Given the description of an element on the screen output the (x, y) to click on. 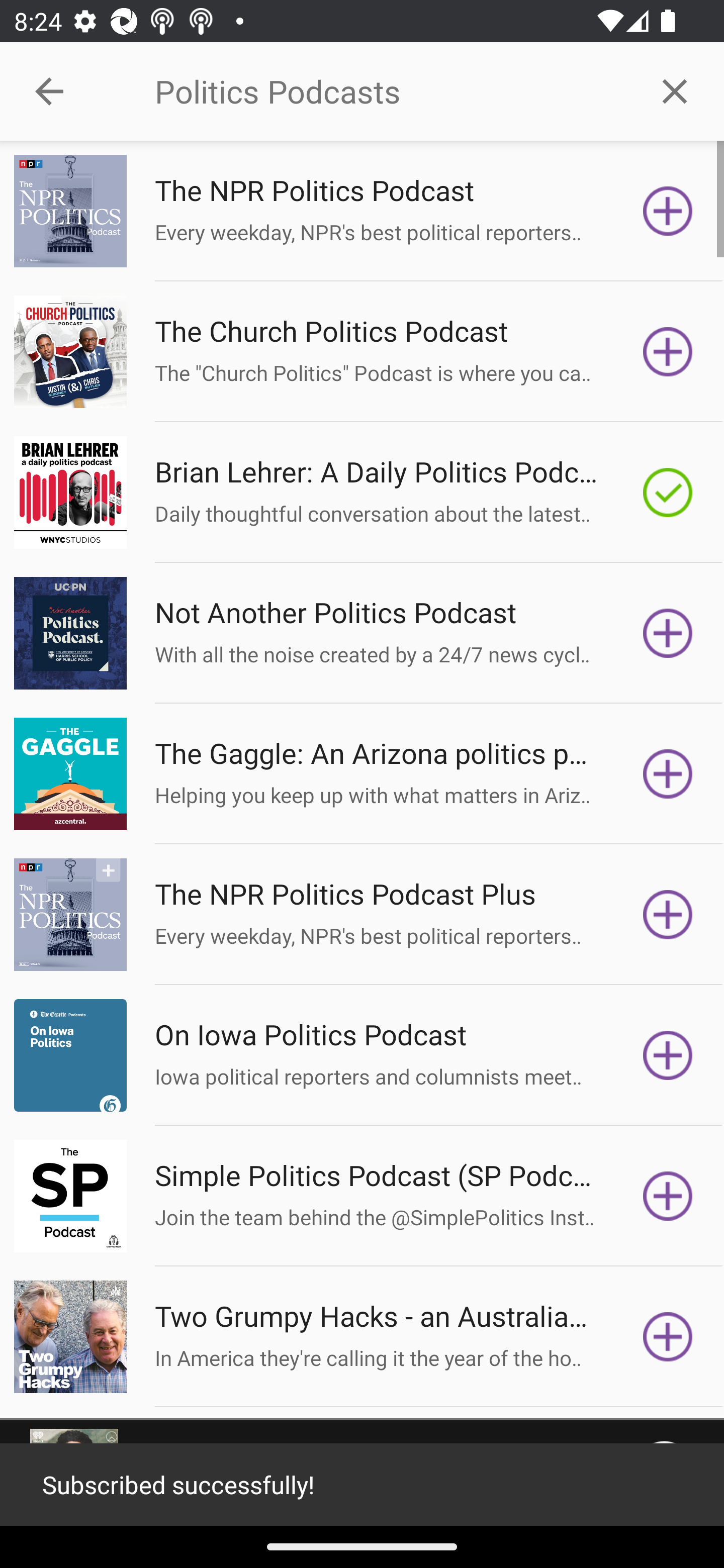
Collapse (49, 91)
Clear query (674, 90)
Politics Podcasts (389, 91)
Subscribe (667, 211)
Subscribe (667, 350)
Subscribed (667, 491)
Subscribe (667, 633)
Subscribe (667, 773)
Subscribe (667, 913)
Subscribe (667, 1054)
Subscribe (667, 1195)
Subscribe (667, 1336)
Subscribed successfully! (362, 1484)
